Given the description of an element on the screen output the (x, y) to click on. 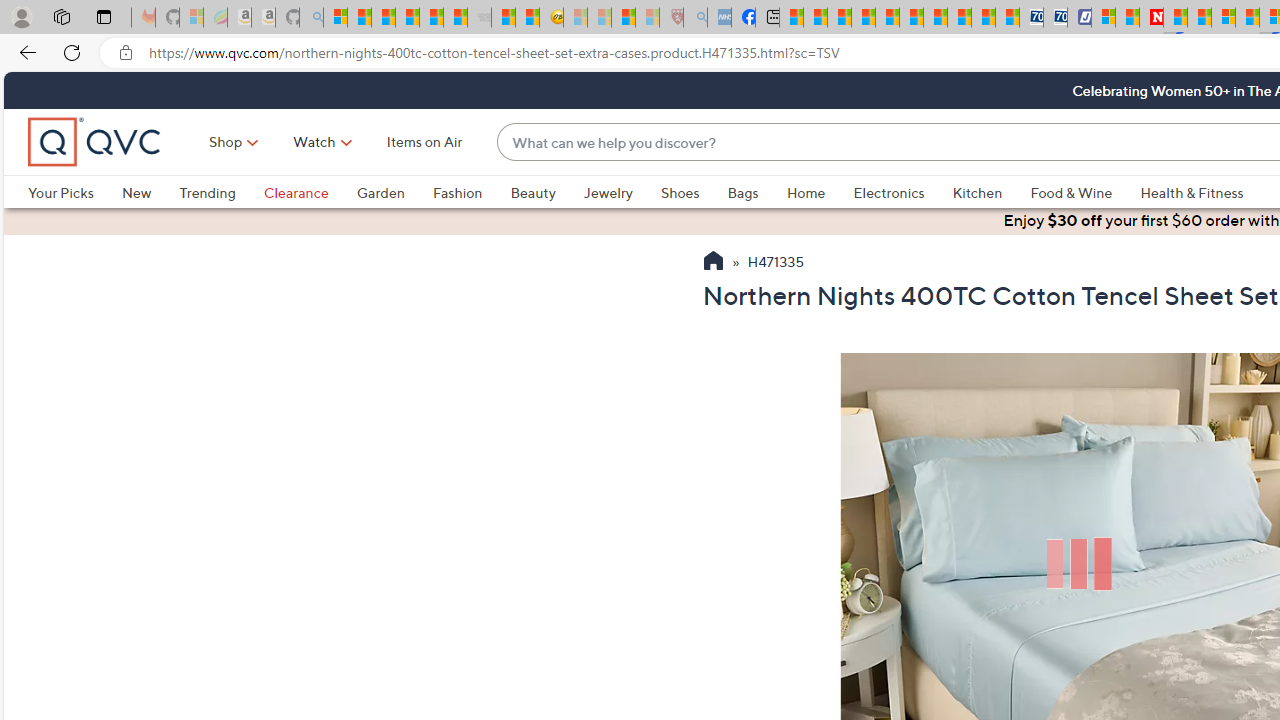
Jewelry (621, 192)
New Report Confirms 2023 Was Record Hot | Watch (430, 17)
Your Picks (74, 192)
Beauty (546, 192)
Shop (226, 141)
Shoes (680, 192)
Latest Politics News & Archive | Newsweek.com (1151, 17)
